Given the description of an element on the screen output the (x, y) to click on. 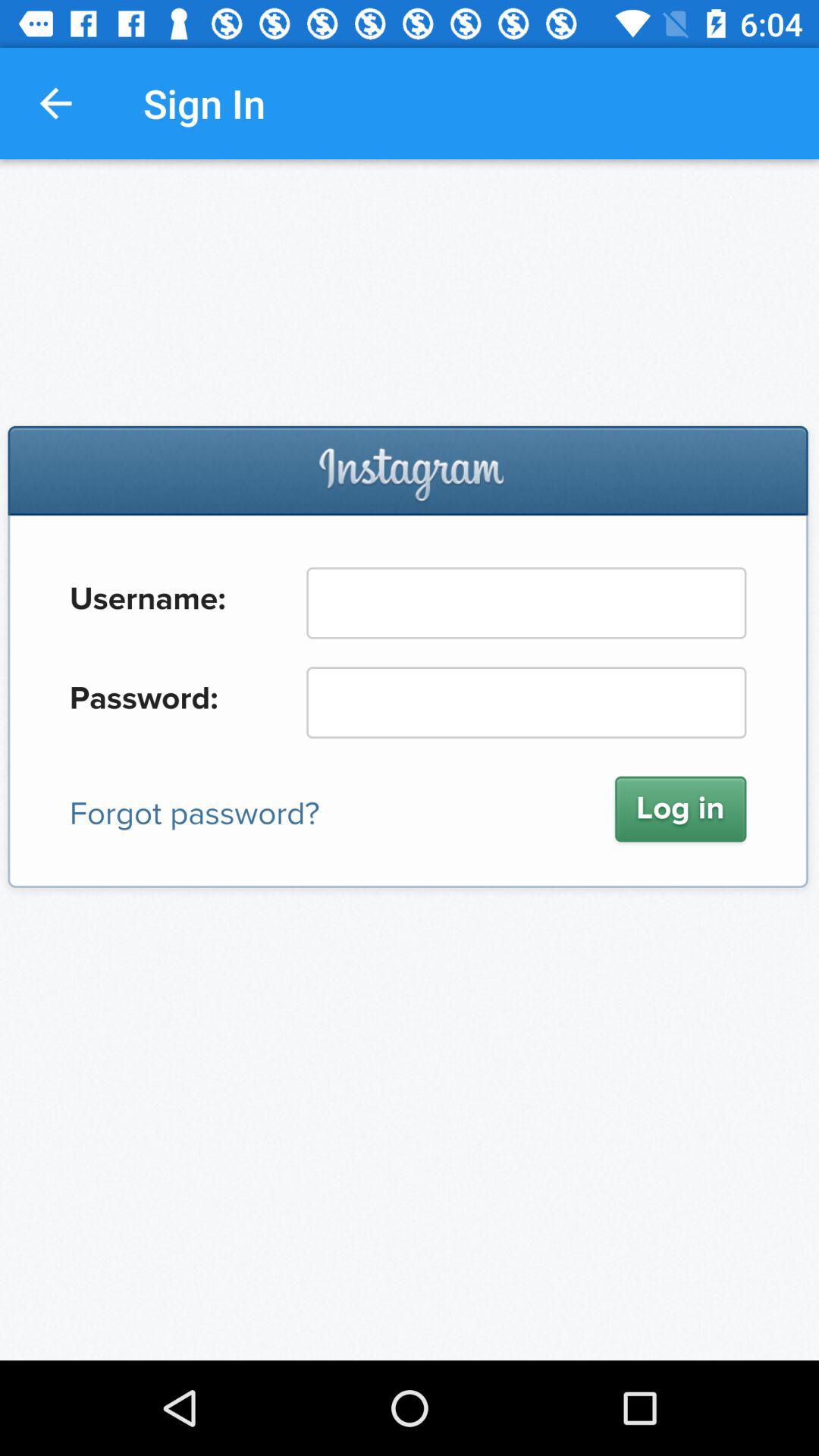
login screen (409, 759)
